Given the description of an element on the screen output the (x, y) to click on. 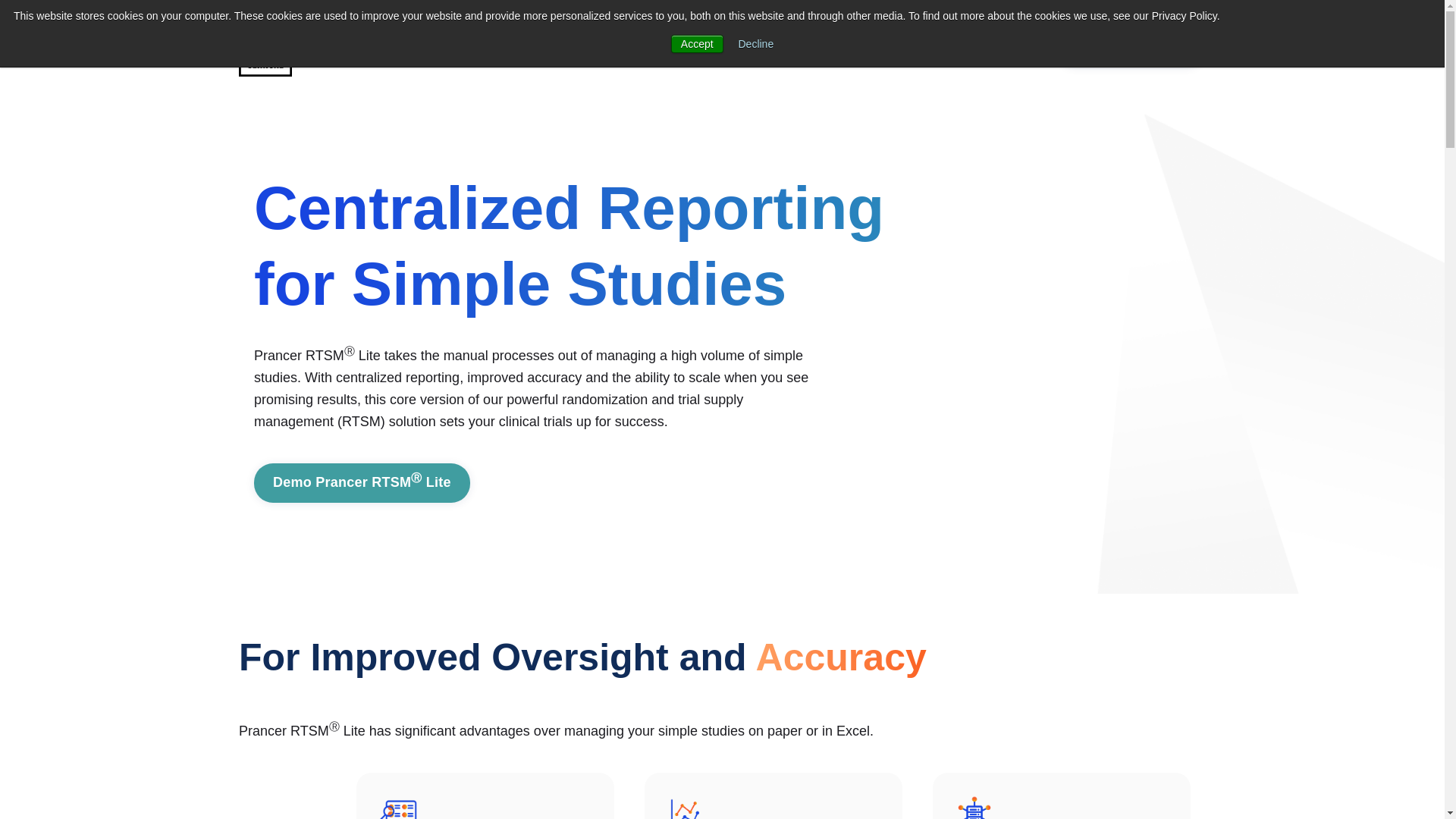
Resources (602, 45)
Request a demo (1131, 46)
Decline (756, 43)
Products (357, 45)
Accept (697, 44)
